Given the description of an element on the screen output the (x, y) to click on. 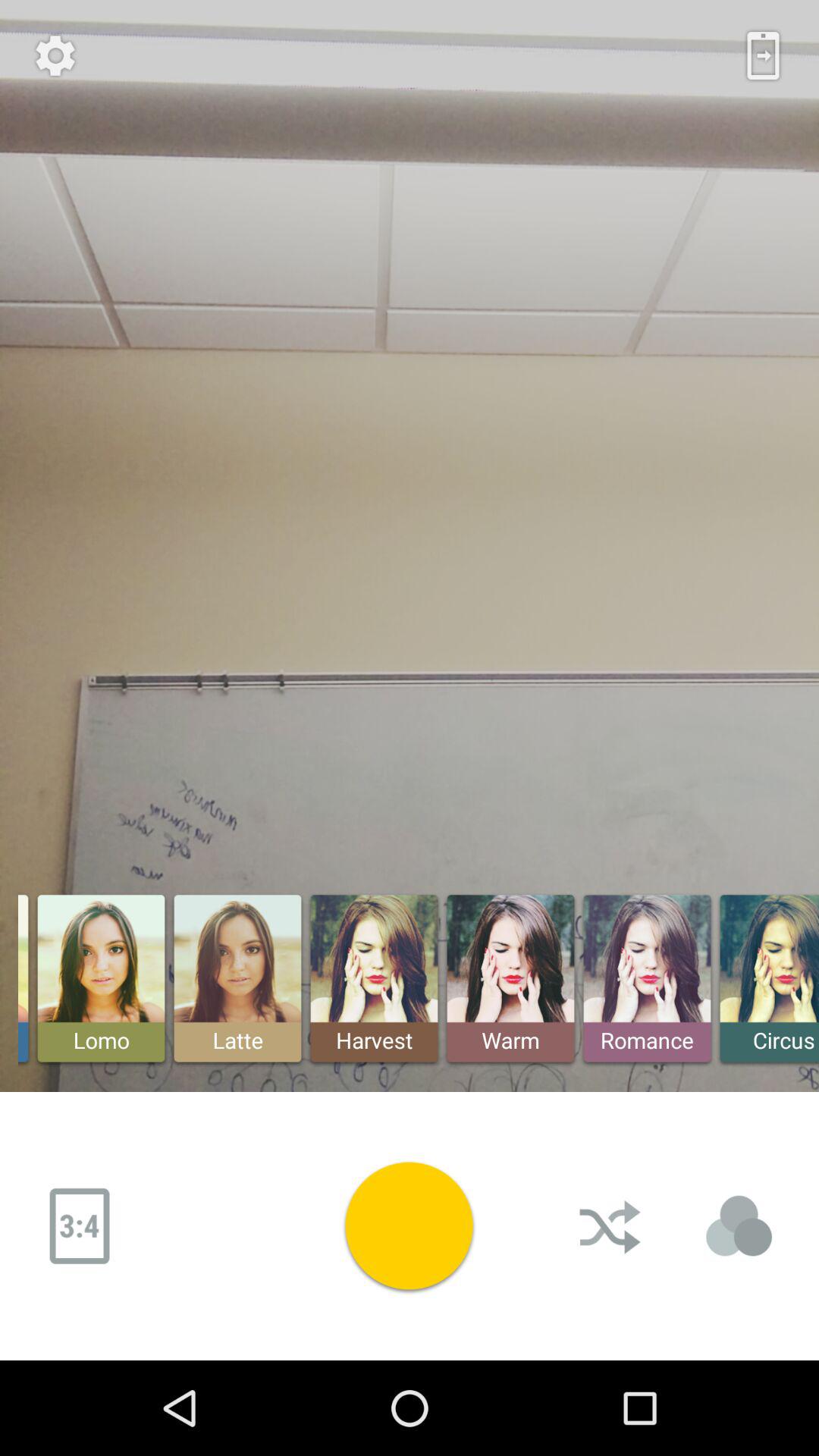
mixed (611, 1226)
